Given the description of an element on the screen output the (x, y) to click on. 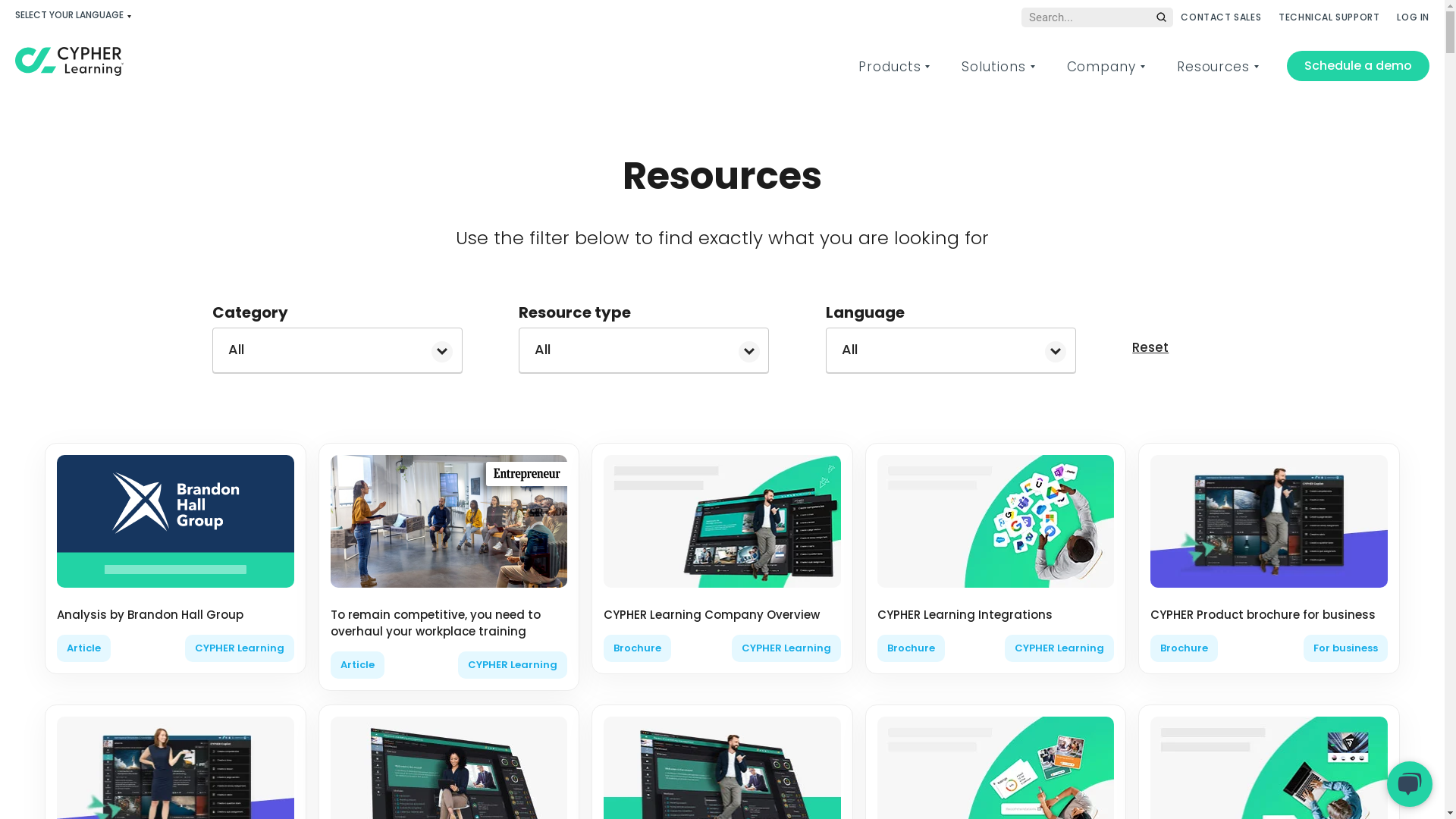
Show submenu for Resources Element type: text (1255, 66)
Show submenu for Products Element type: text (926, 66)
Products Element type: text (889, 66)
Solutions Element type: text (993, 66)
TECHNICAL SUPPORT Element type: text (1328, 16)
Resources Element type: text (1212, 66)
LOG IN Element type: text (1412, 16)
Show submenu for Company Element type: text (1142, 66)
Reset Element type: text (1150, 347)
Show submenu for Solutions Element type: text (1032, 66)
Schedule a demo Element type: text (1357, 65)
Company Element type: text (1100, 66)
CONTACT SALES Element type: text (1220, 16)
